Given the description of an element on the screen output the (x, y) to click on. 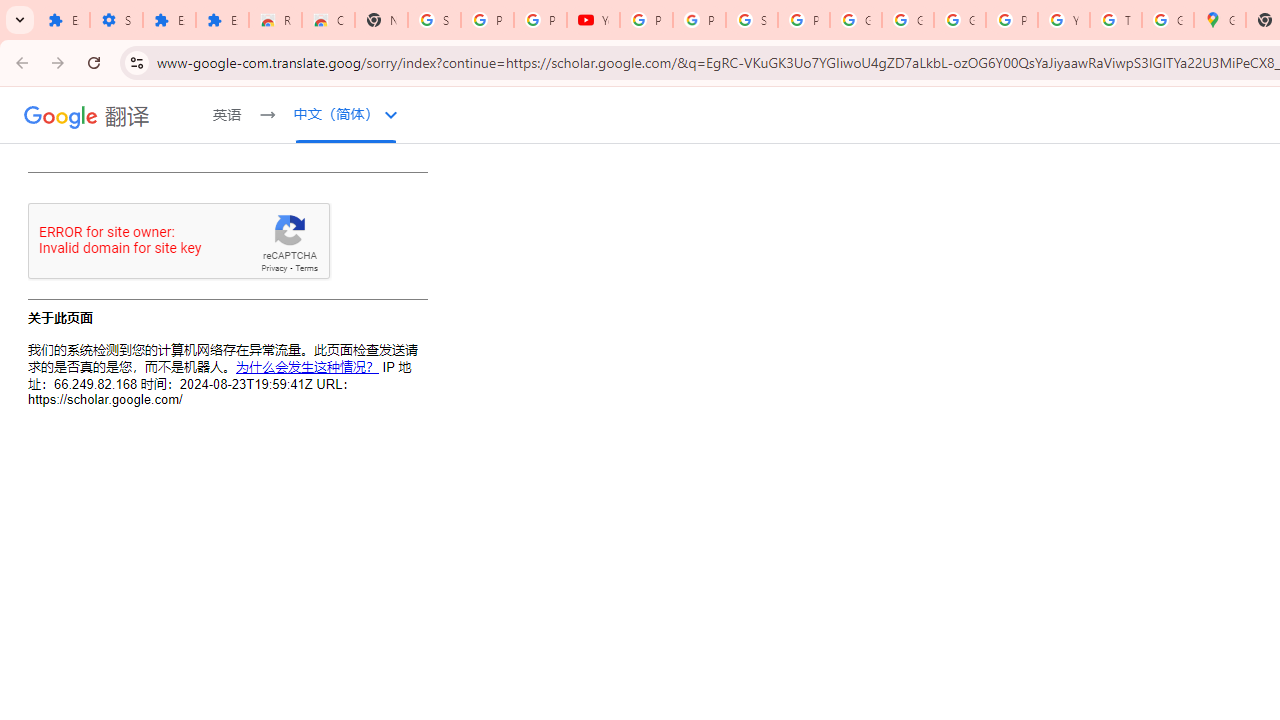
Extensions (169, 20)
Sign in - Google Accounts (434, 20)
New Tab (381, 20)
Chrome Web Store - Themes (328, 20)
Google Account (855, 20)
Reviews: Helix Fruit Jump Arcade Game (275, 20)
